Given the description of an element on the screen output the (x, y) to click on. 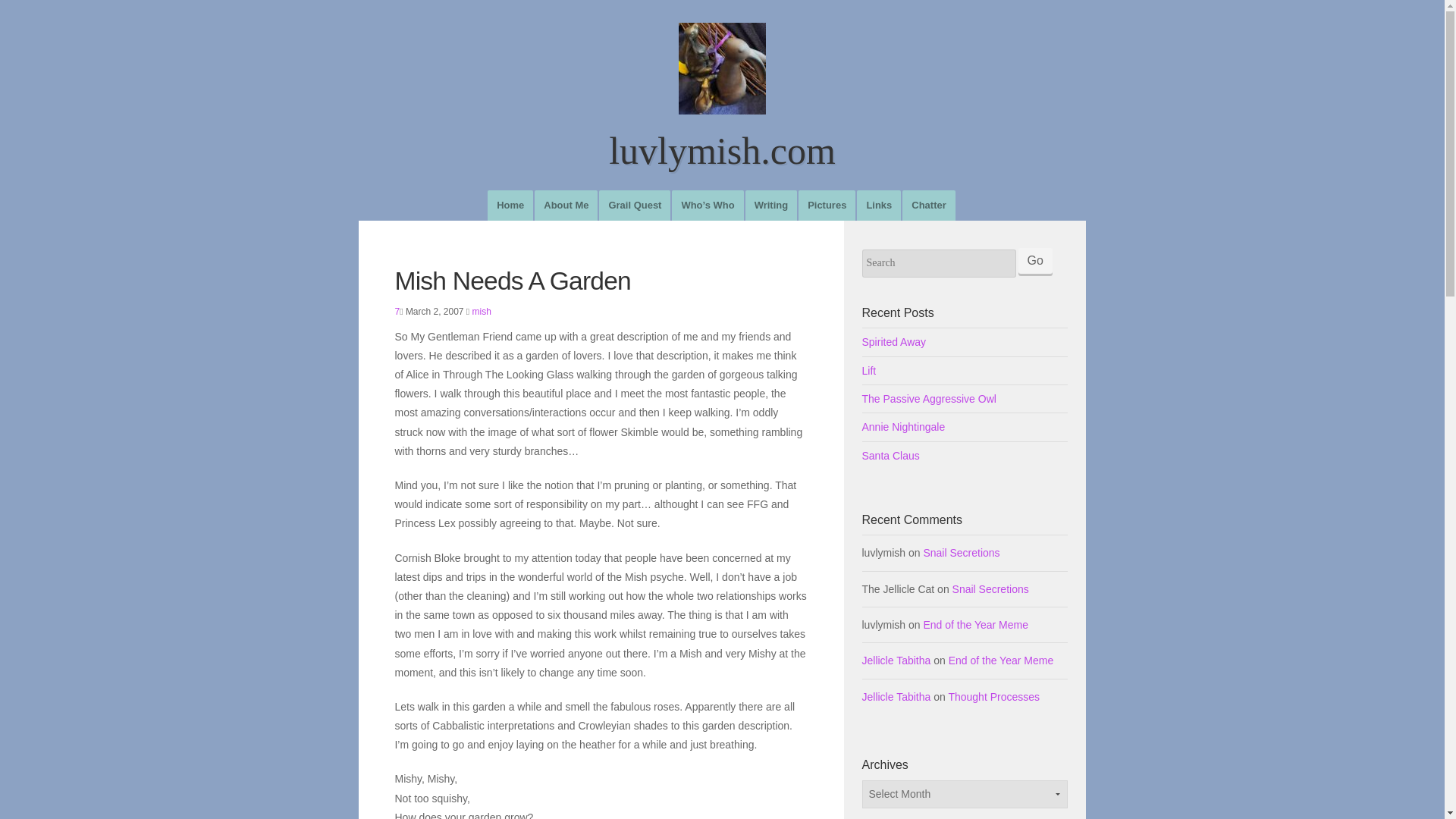
Santa Claus (964, 455)
mish (481, 311)
Chatter (928, 205)
Pictures (826, 205)
The Passive Aggressive Owl (964, 398)
Spirited Away (964, 341)
luvlymish.com (722, 117)
Lift (964, 370)
End of the Year Meme (975, 624)
Writing (770, 205)
Go (1034, 260)
Snail Secretions (960, 552)
Snail Secretions (990, 589)
Jellicle Tabitha (895, 660)
About Me (565, 205)
